Given the description of an element on the screen output the (x, y) to click on. 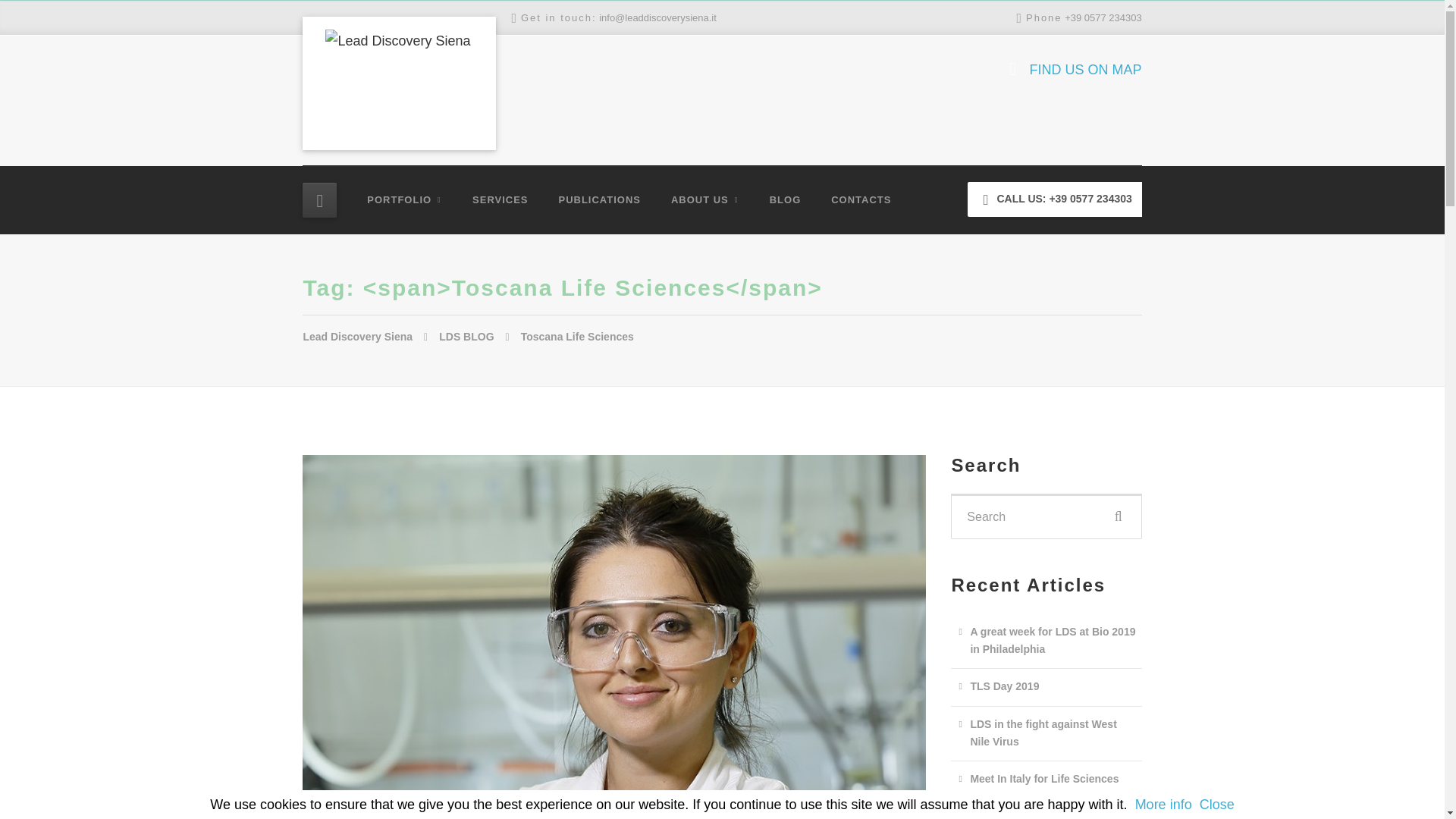
A great week for LDS at Bio 2019 in Philadelphia (1043, 641)
Go to Lead Discovery Siena. (370, 336)
FIND US ON MAP (1082, 69)
Go to LDS BLOG. (479, 336)
TLS Day 2019 (994, 686)
PORTFOLIO (411, 199)
CONTACTS (860, 199)
LDS BLOG (479, 336)
ABOUT US (705, 199)
Meet In Italy for Life Sciences 2018 (1043, 787)
